Given the description of an element on the screen output the (x, y) to click on. 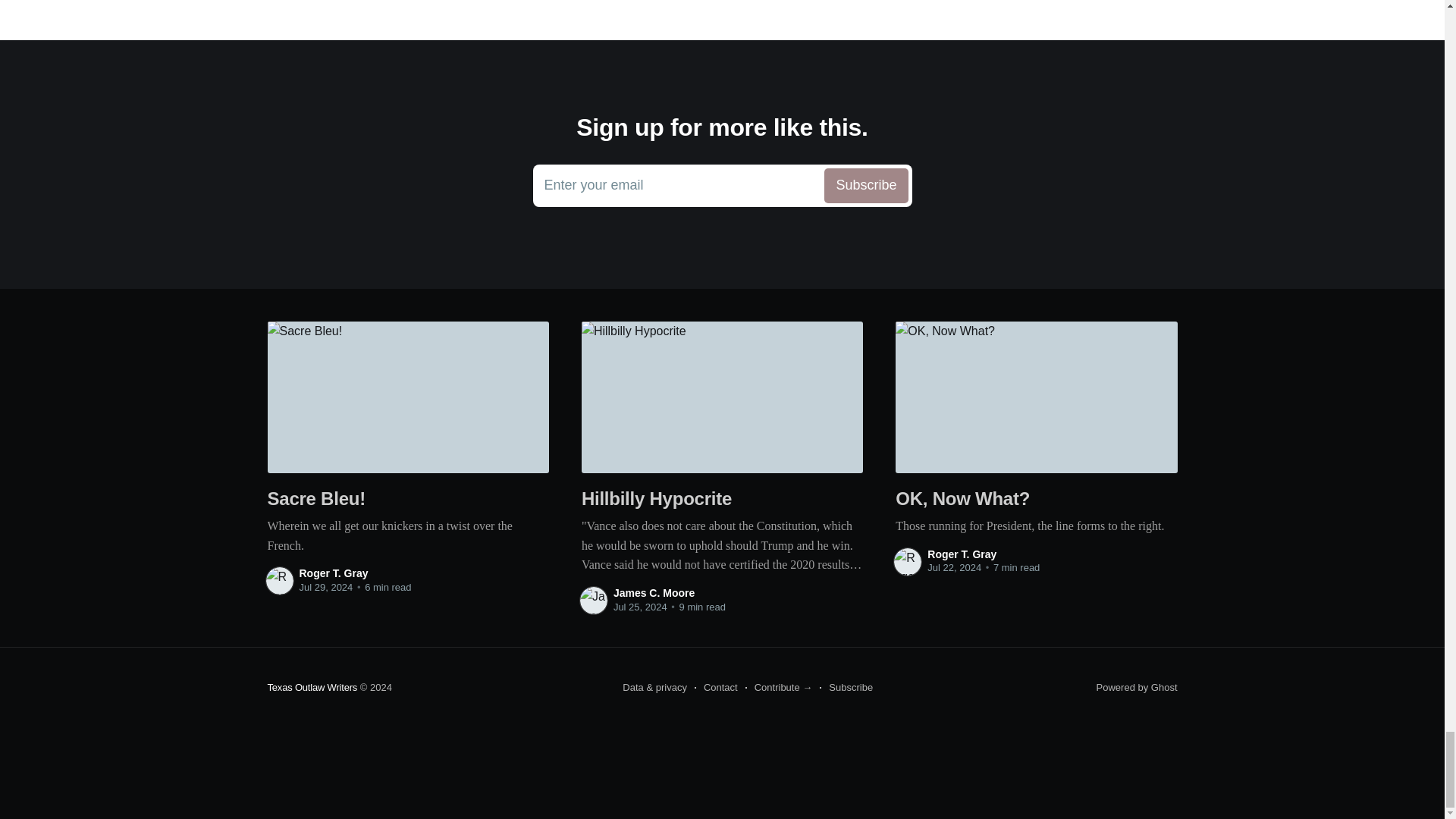
James C. Moore (653, 592)
Contact (716, 687)
Powered by Ghost (721, 185)
Roger T. Gray (1136, 686)
Subscribe (961, 553)
Roger T. Gray (845, 687)
Texas Outlaw Writers (333, 573)
